Given the description of an element on the screen output the (x, y) to click on. 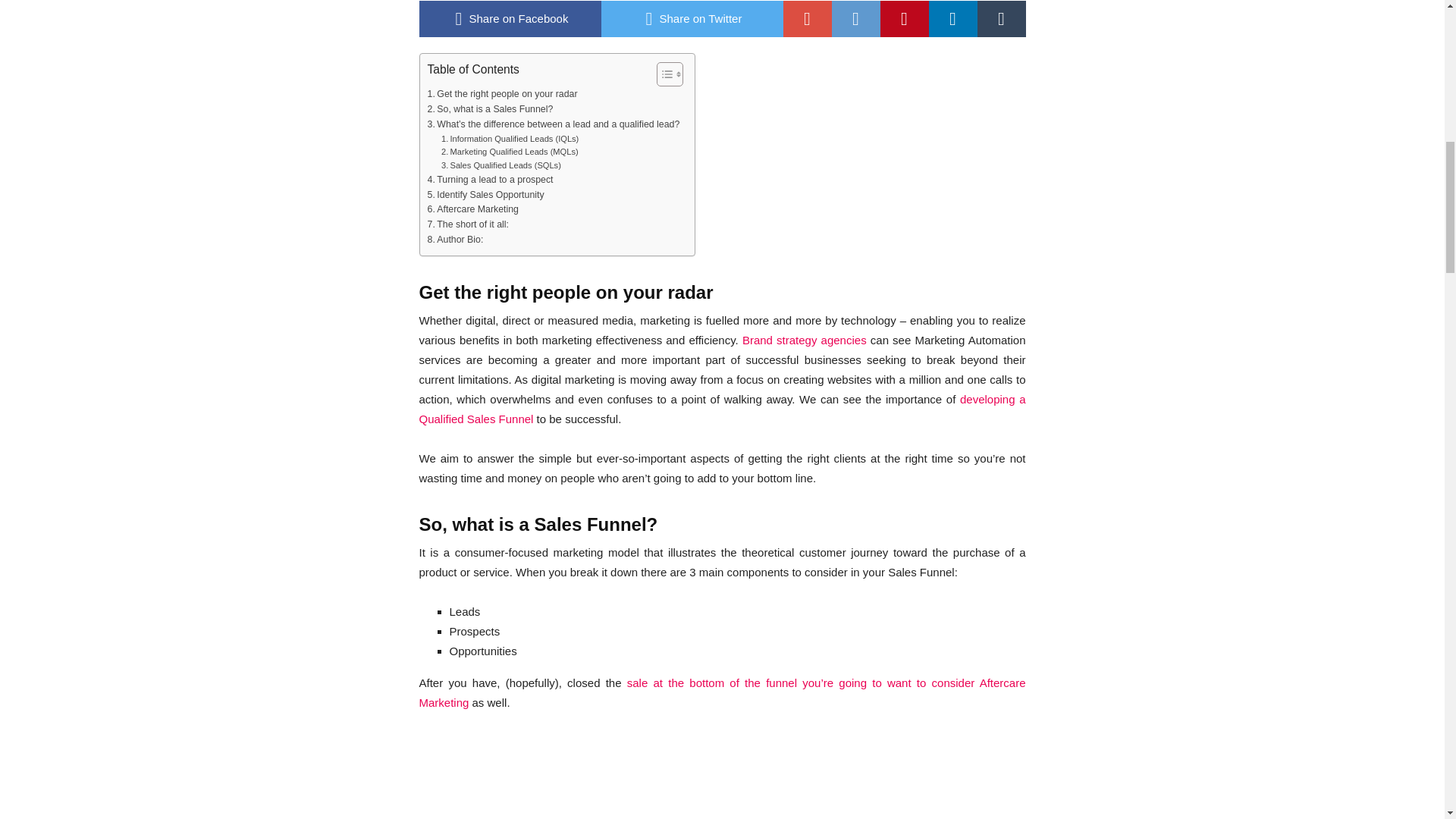
twitter (691, 18)
facebook (509, 18)
